Given the description of an element on the screen output the (x, y) to click on. 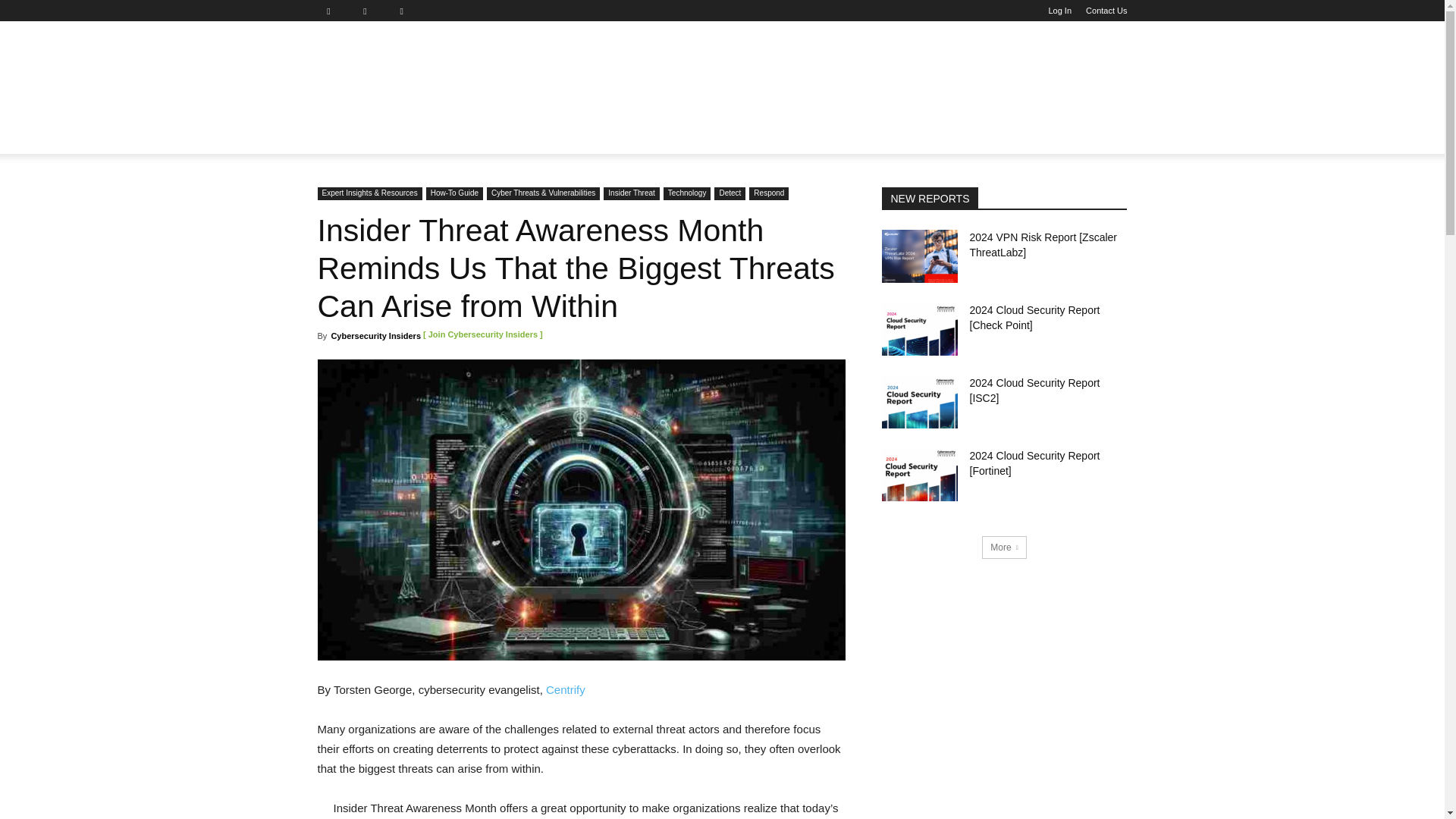
NEWS (343, 135)
Facebook (333, 10)
News (343, 135)
Twitter (407, 10)
Log In (1059, 10)
Contact Us (1106, 10)
Linkedin (370, 10)
Advertisement (829, 76)
